Given the description of an element on the screen output the (x, y) to click on. 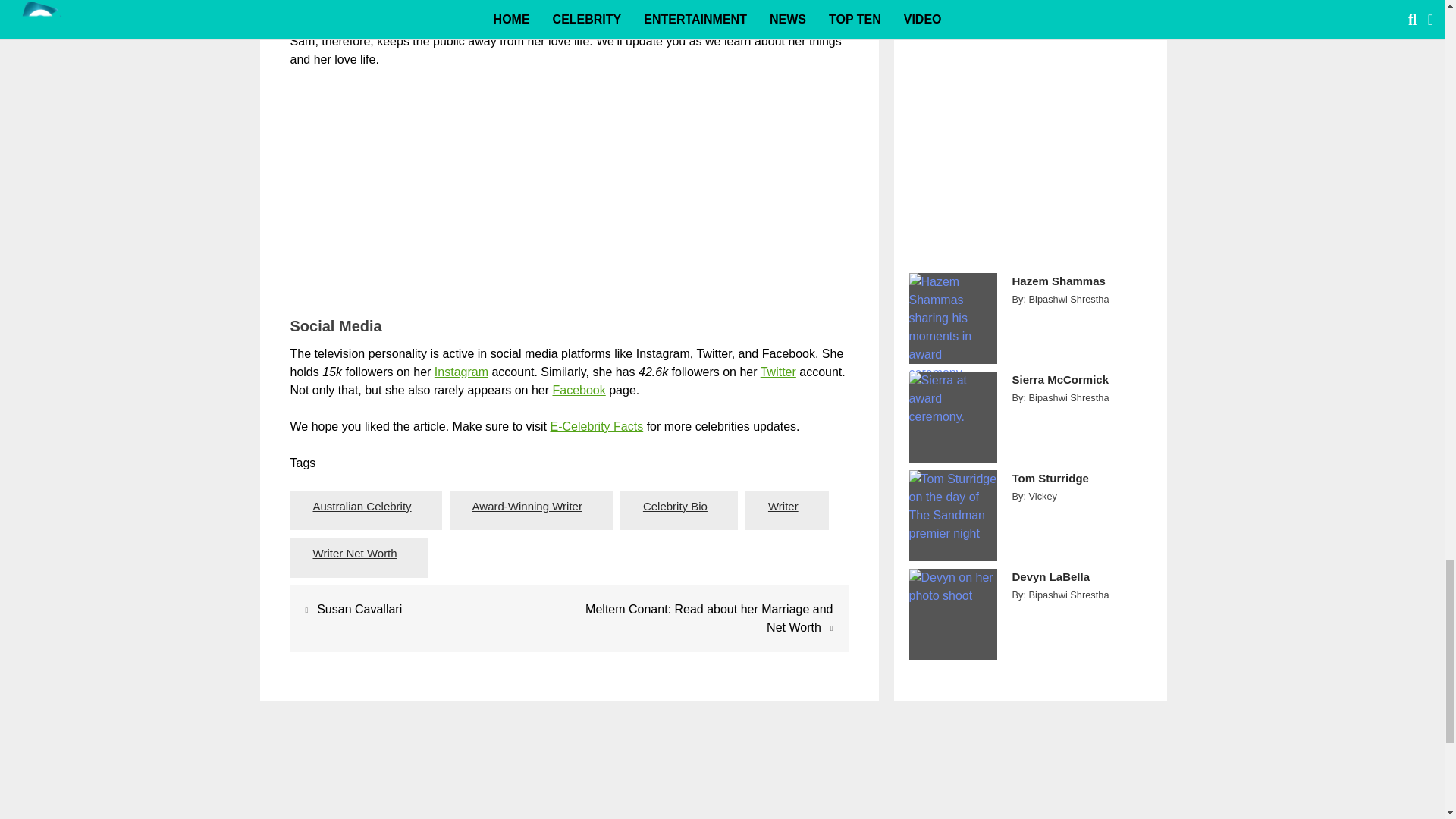
Award-Winning Writer (527, 506)
Writer Net Worth (355, 553)
Instagram (460, 371)
E-Celebrity Facts (596, 426)
Writer (783, 506)
Susan Cavallari (359, 608)
Facebook (578, 390)
Australian Celebrity (362, 506)
Twitter (778, 371)
Celebrity Bio (675, 506)
